Given the description of an element on the screen output the (x, y) to click on. 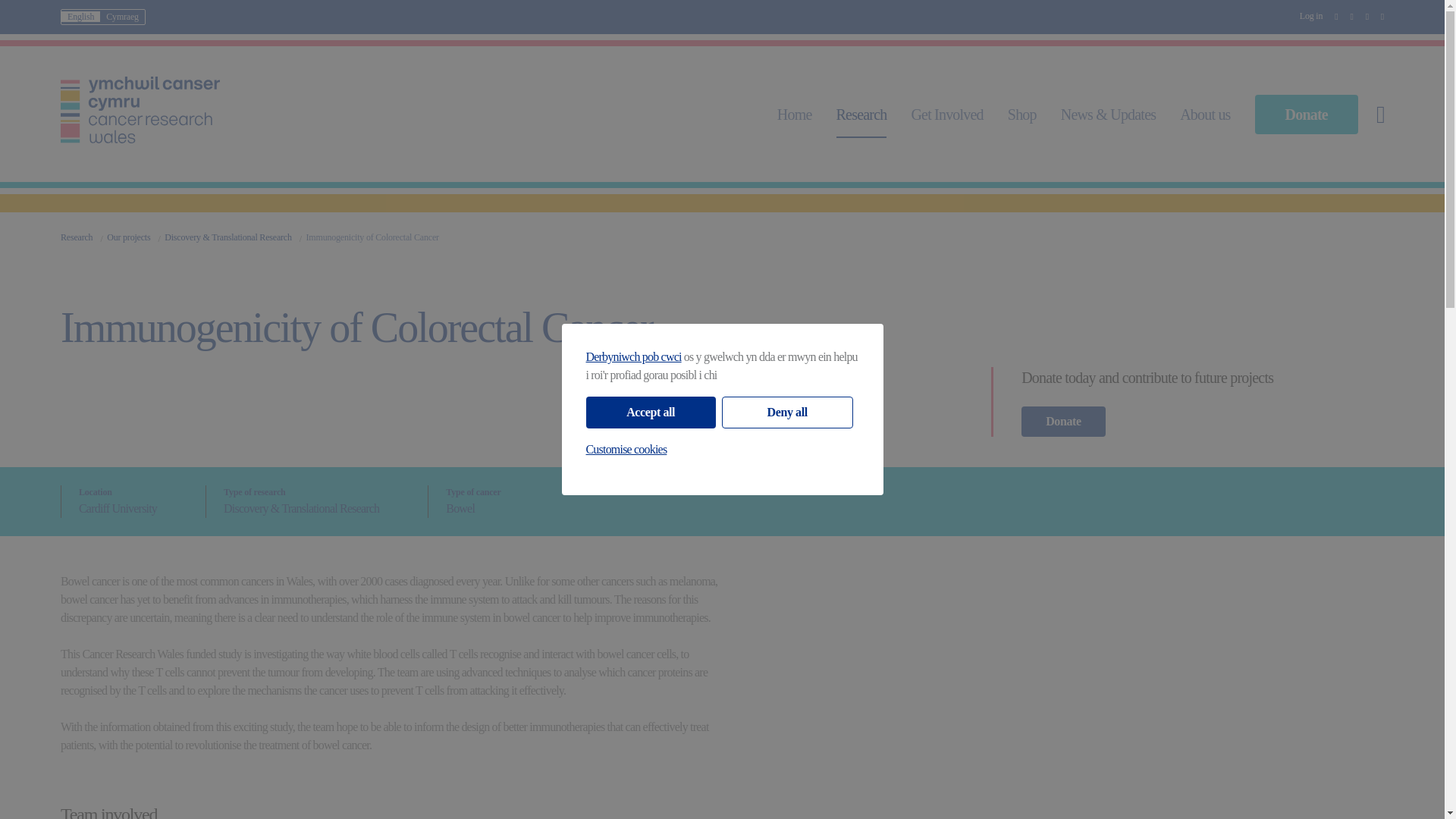
Derbyniwch pob cwci (633, 356)
Customise cookies (625, 449)
English (80, 16)
Get Involved (946, 114)
Cymraeg (122, 16)
Home (794, 114)
Deny all (787, 412)
Research (860, 114)
Log in (1311, 15)
Accept all (649, 412)
